Given the description of an element on the screen output the (x, y) to click on. 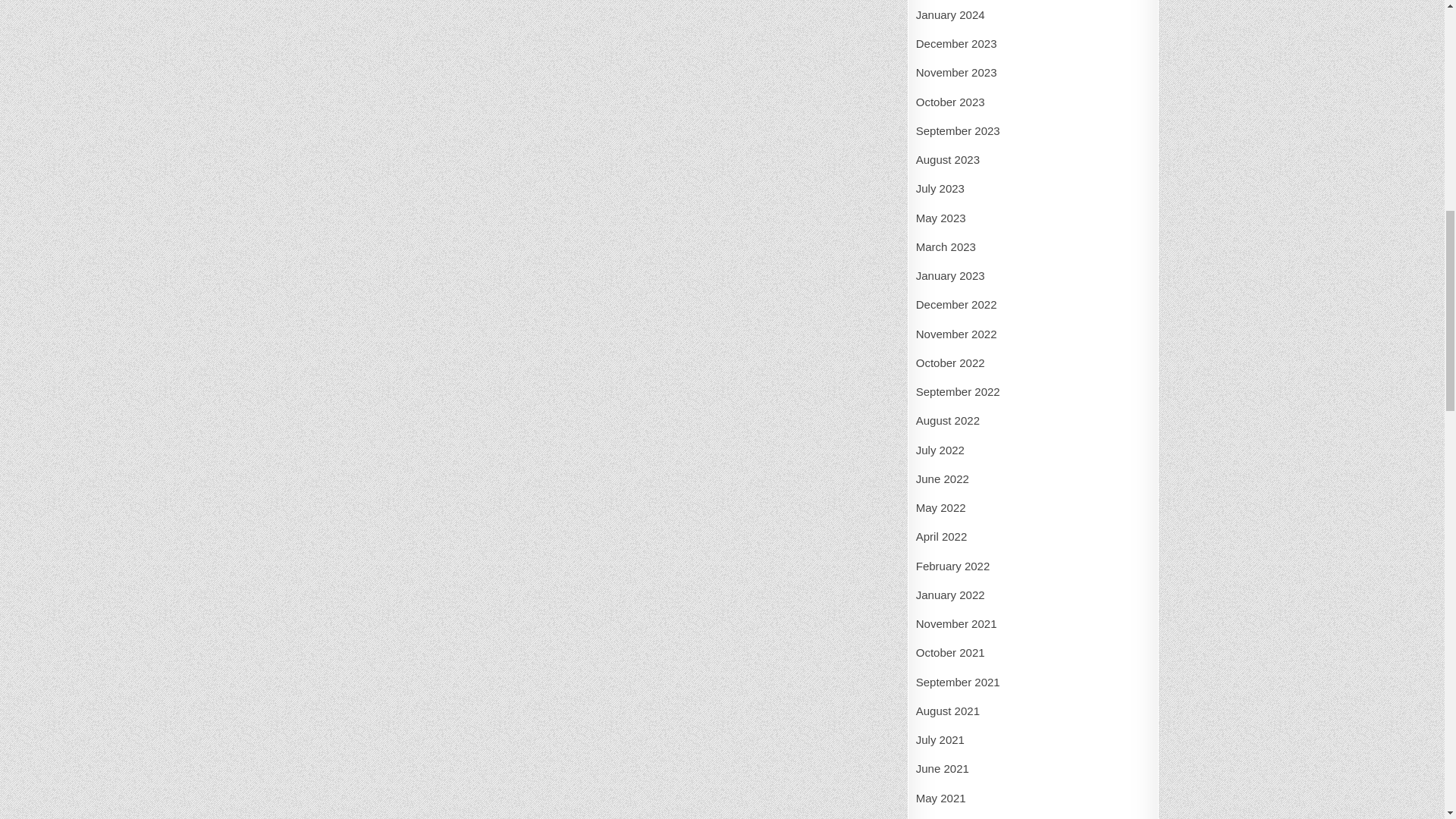
August 2023 (947, 159)
June 2022 (942, 478)
December 2022 (956, 304)
May 2022 (940, 507)
January 2022 (950, 594)
January 2024 (950, 14)
October 2023 (950, 101)
September 2022 (957, 391)
March 2023 (945, 246)
December 2023 (956, 42)
